Given the description of an element on the screen output the (x, y) to click on. 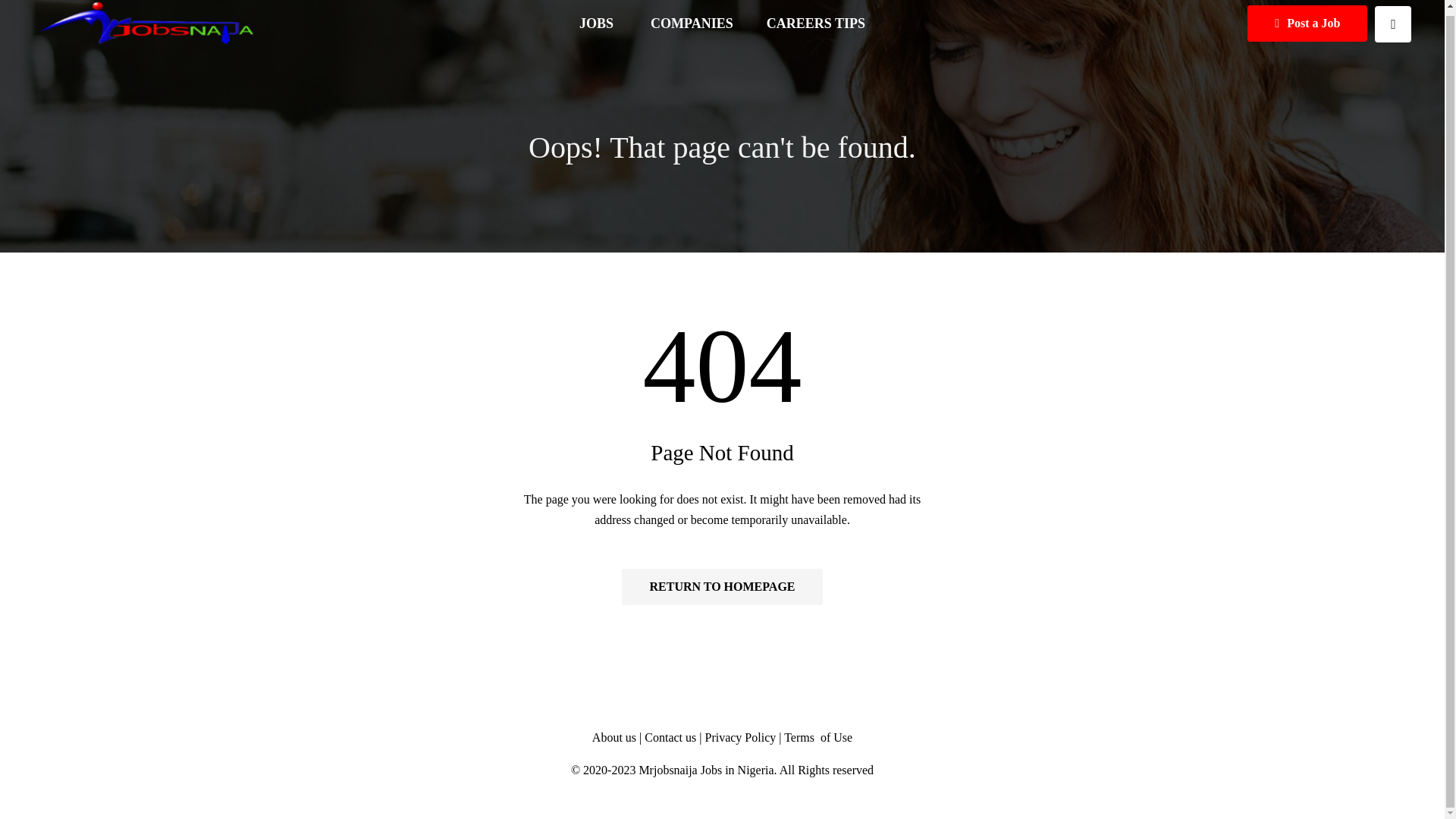
Contact us (671, 737)
Terms  of Use (817, 737)
RETURN TO HOMEPAGE (721, 586)
JOBS (597, 24)
Post a Job (1307, 22)
Home Page (721, 586)
COMPANIES (691, 24)
CAREERS TIPS (815, 24)
Privacy Policy (740, 737)
About us (614, 737)
